Given the description of an element on the screen output the (x, y) to click on. 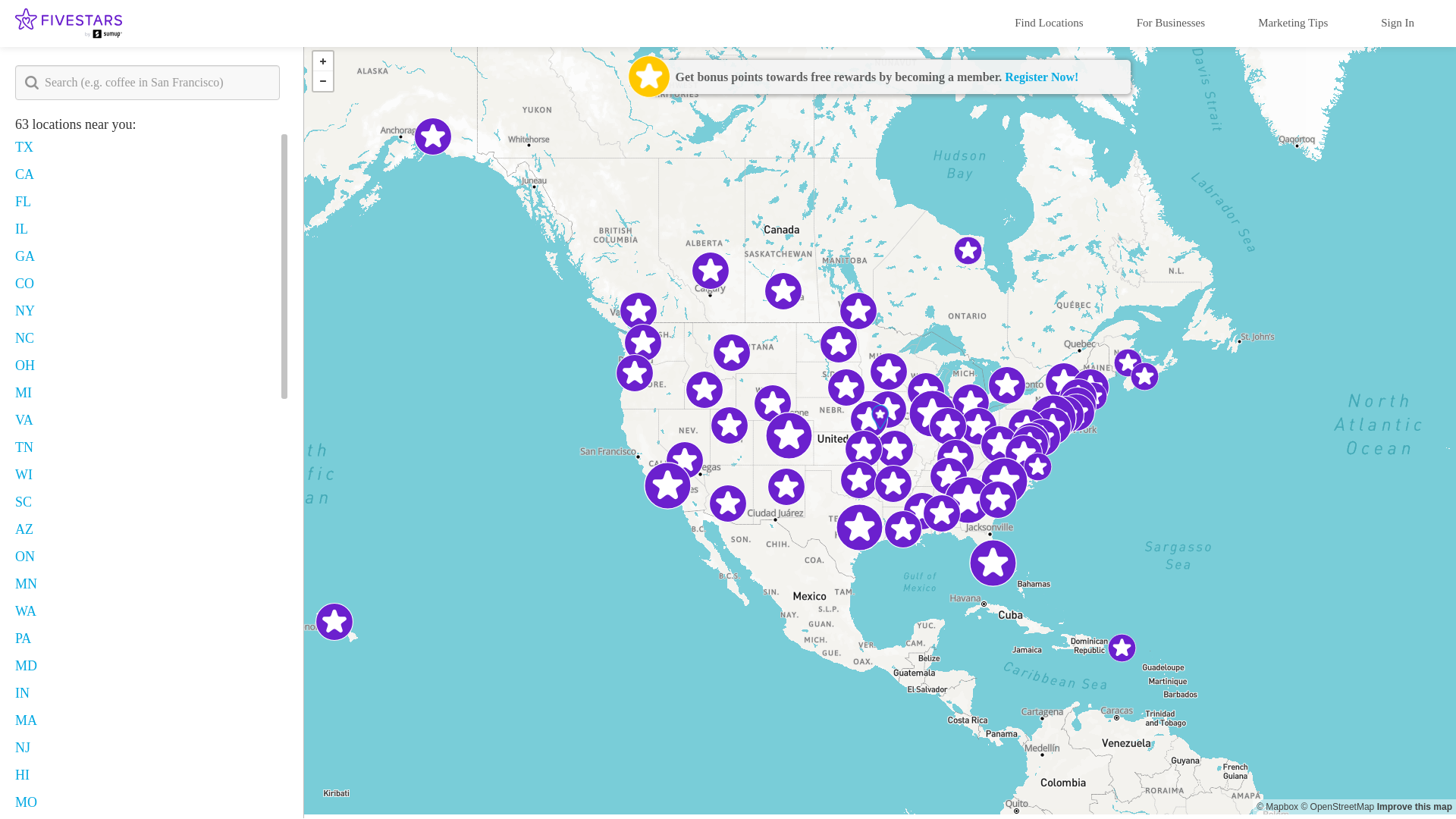
VA (23, 419)
WI (23, 474)
Zoom out (323, 80)
Sign In (1397, 18)
PA (22, 638)
MO (25, 801)
OpenStreetMap (1337, 806)
Zoom in (323, 61)
OH (24, 365)
MA (25, 720)
WA (25, 611)
MN (25, 583)
AZ (23, 529)
HI (21, 774)
NJ (22, 747)
